Given the description of an element on the screen output the (x, y) to click on. 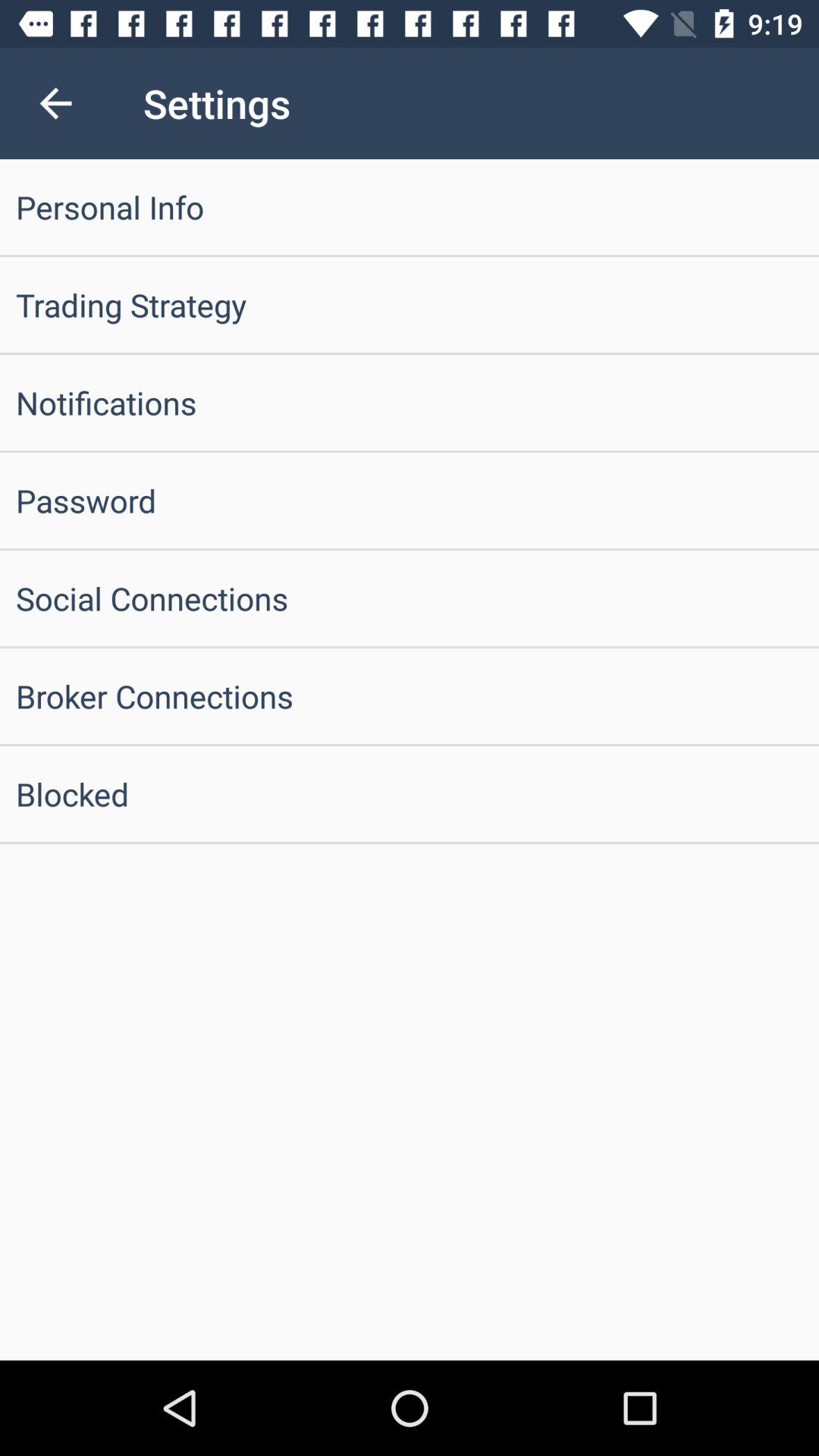
open item above trading strategy icon (409, 206)
